Given the description of an element on the screen output the (x, y) to click on. 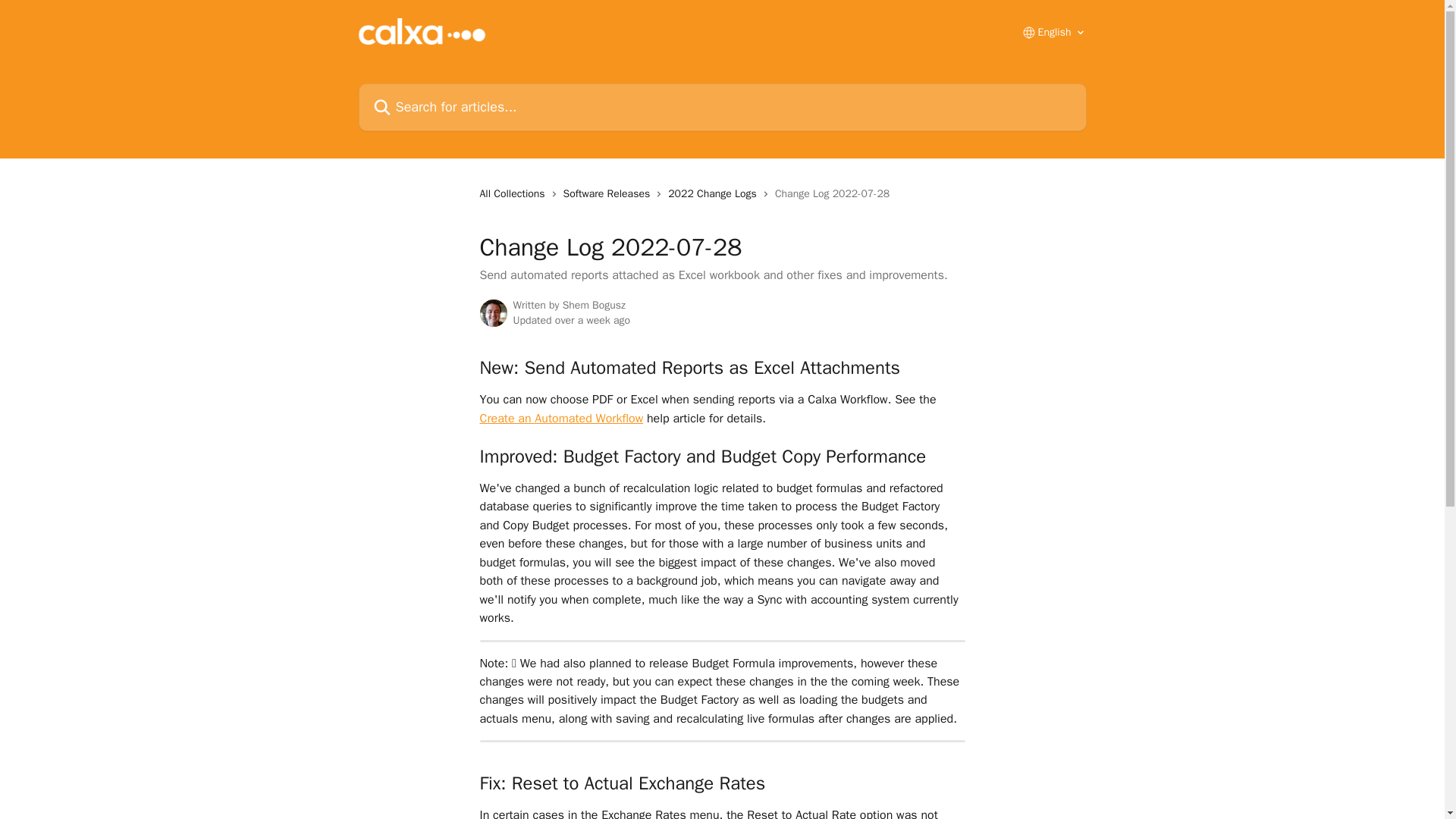
All Collections (514, 193)
2022 Change Logs (715, 193)
Create an Automated Workflow (561, 418)
Software Releases (609, 193)
